Given the description of an element on the screen output the (x, y) to click on. 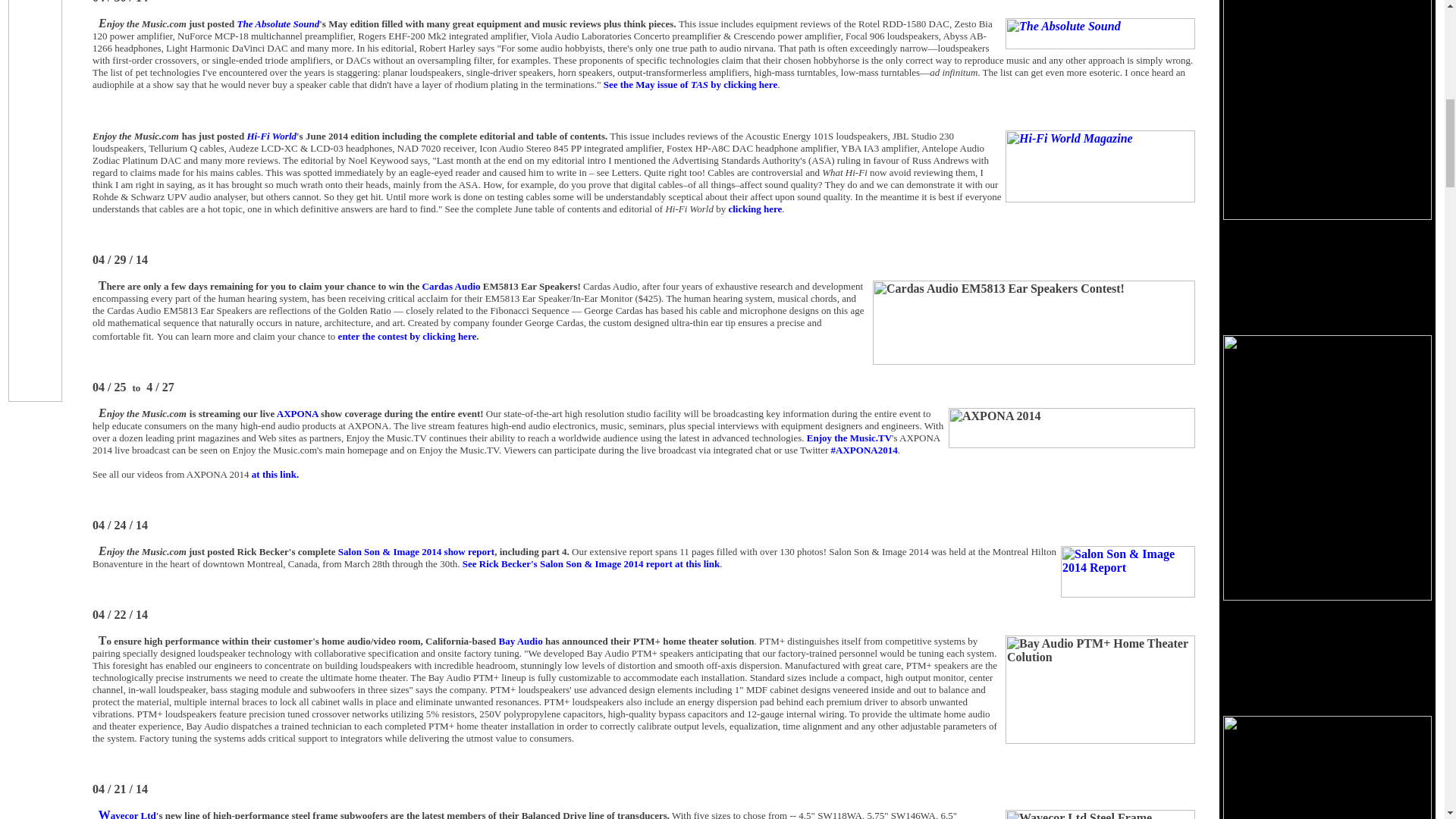
at this link. (275, 473)
Cardas Audio (451, 285)
AXPONA (297, 413)
See the May issue of TAS by clicking here (690, 84)
Bay Audio (521, 641)
Hi-Fi World (271, 135)
W (104, 813)
enter the contest by clicking here (407, 336)
clicking here (754, 208)
Enjoy the Music.TV (848, 437)
The Absolute Sound (278, 23)
avecor Ltd (132, 814)
